Given the description of an element on the screen output the (x, y) to click on. 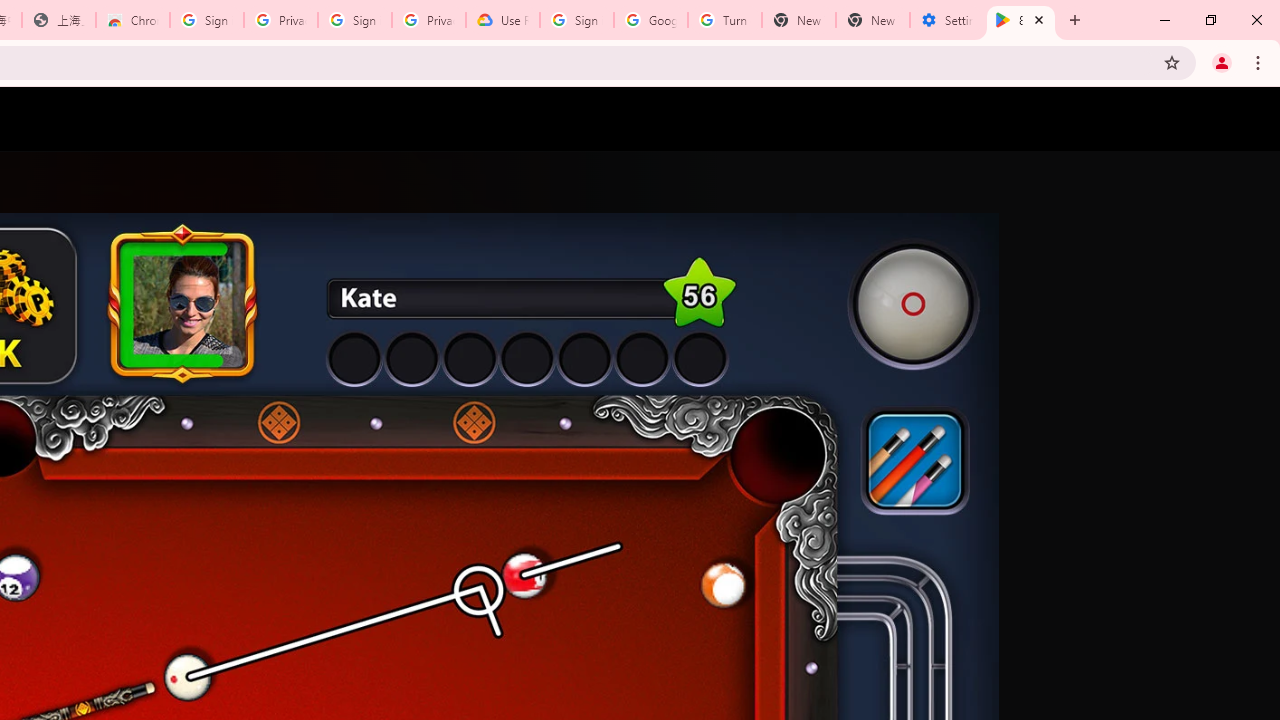
Turn cookies on or off - Computer - Google Account Help (724, 20)
Open account menu (1245, 119)
Sign in - Google Accounts (577, 20)
Chrome Web Store - Color themes by Chrome (133, 20)
Google Account Help (651, 20)
